Given the description of an element on the screen output the (x, y) to click on. 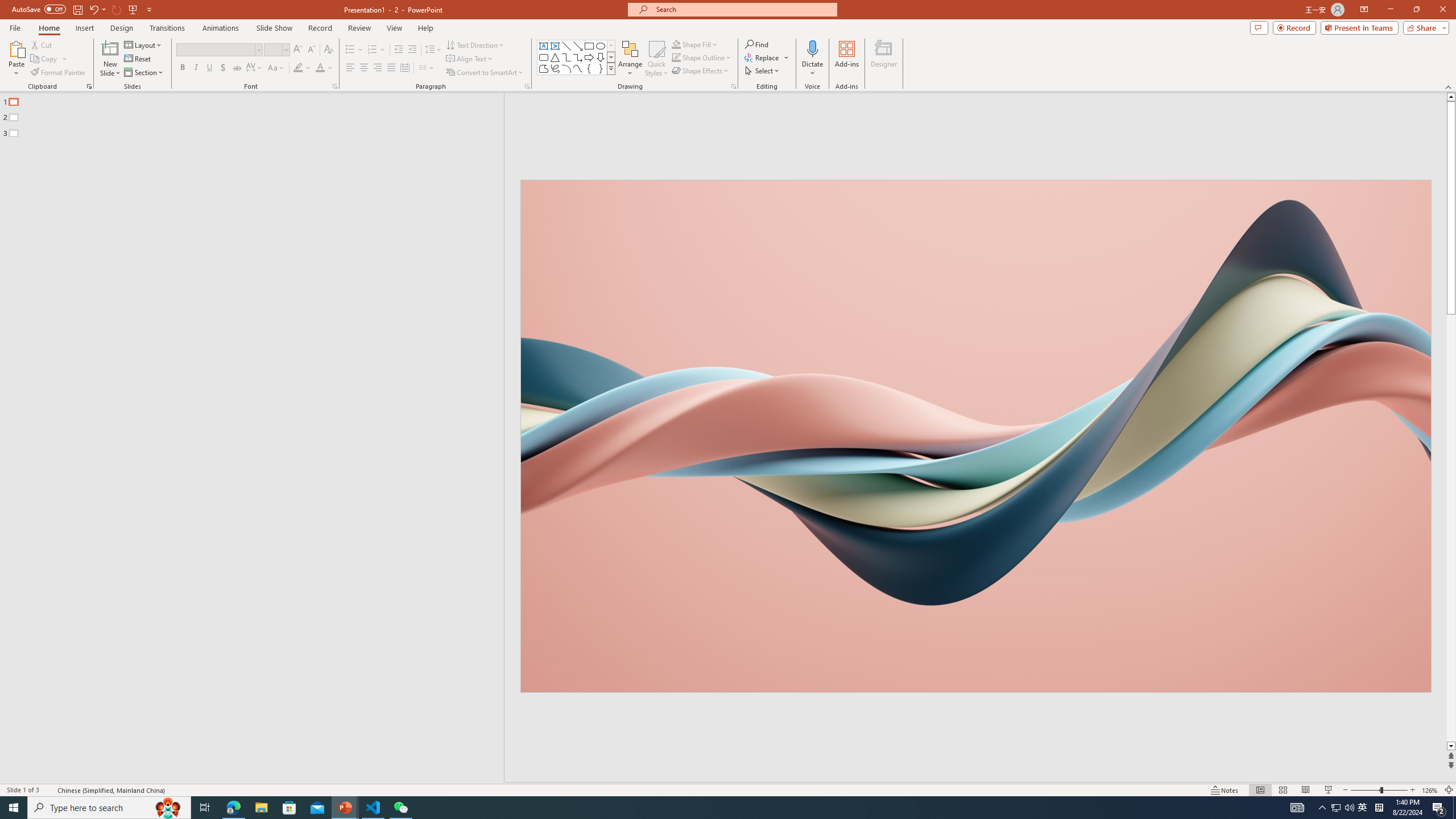
Zoom 126% (1430, 790)
